Given the description of an element on the screen output the (x, y) to click on. 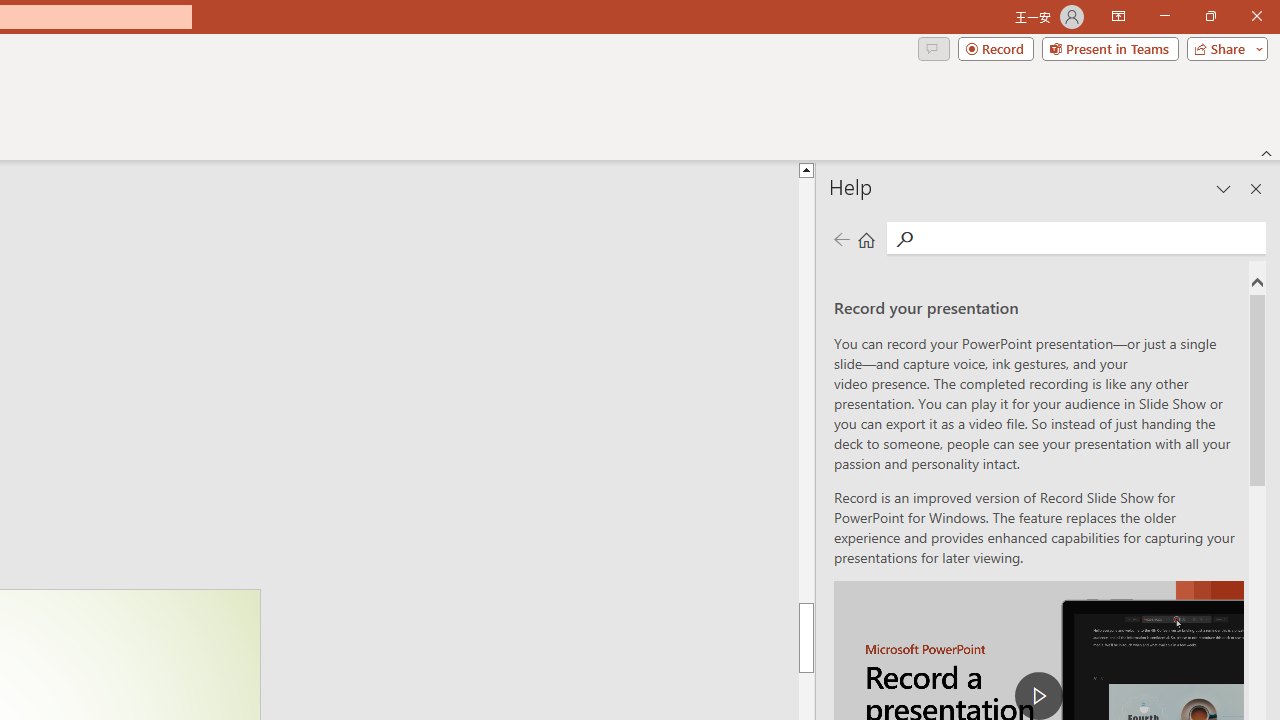
play Record a Presentation (1038, 695)
